Given the description of an element on the screen output the (x, y) to click on. 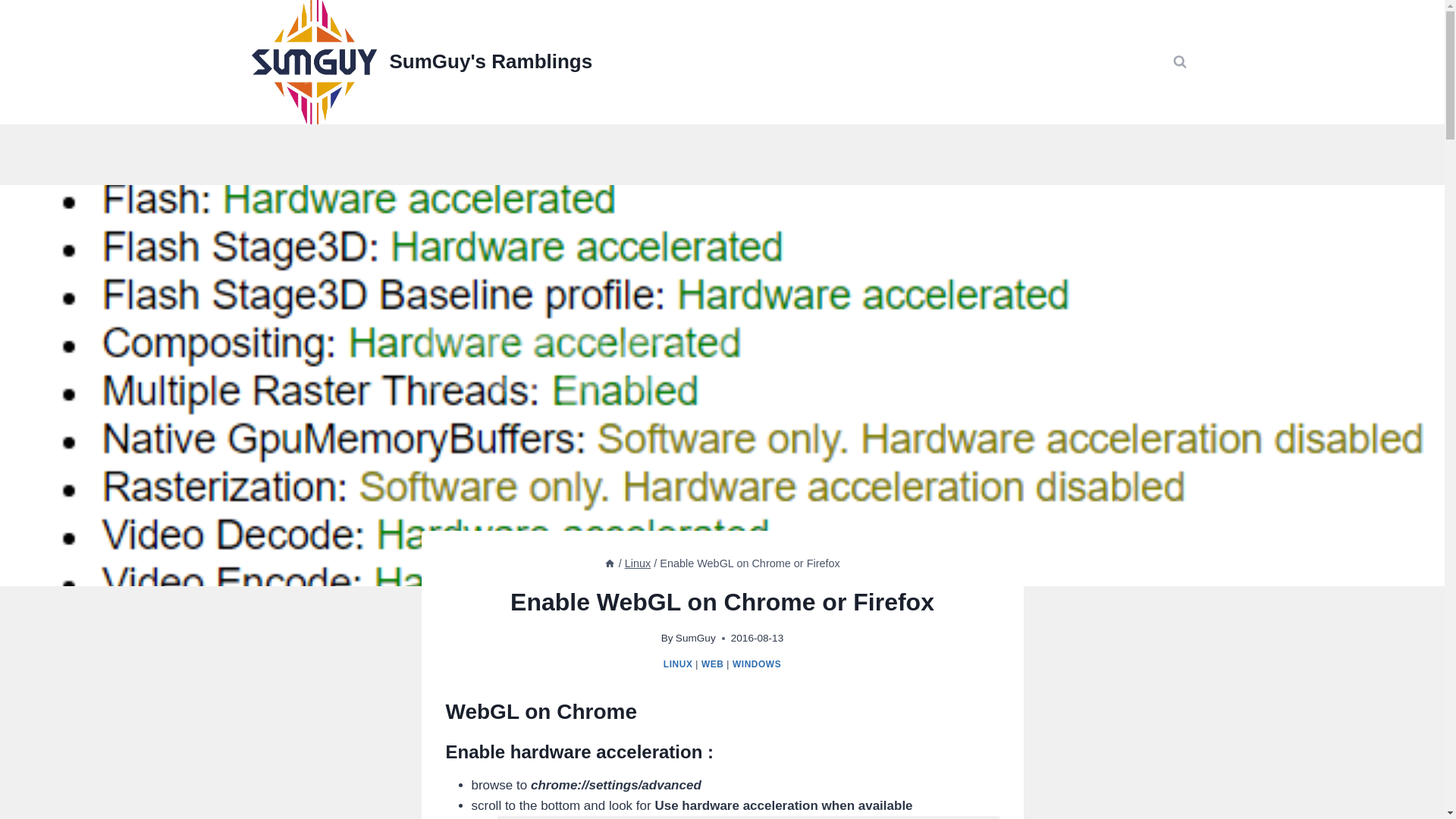
LINUX (678, 664)
Linux (637, 563)
WEB (712, 664)
SumGuy (695, 637)
WINDOWS (756, 664)
SumGuy's Ramblings (421, 62)
